Given the description of an element on the screen output the (x, y) to click on. 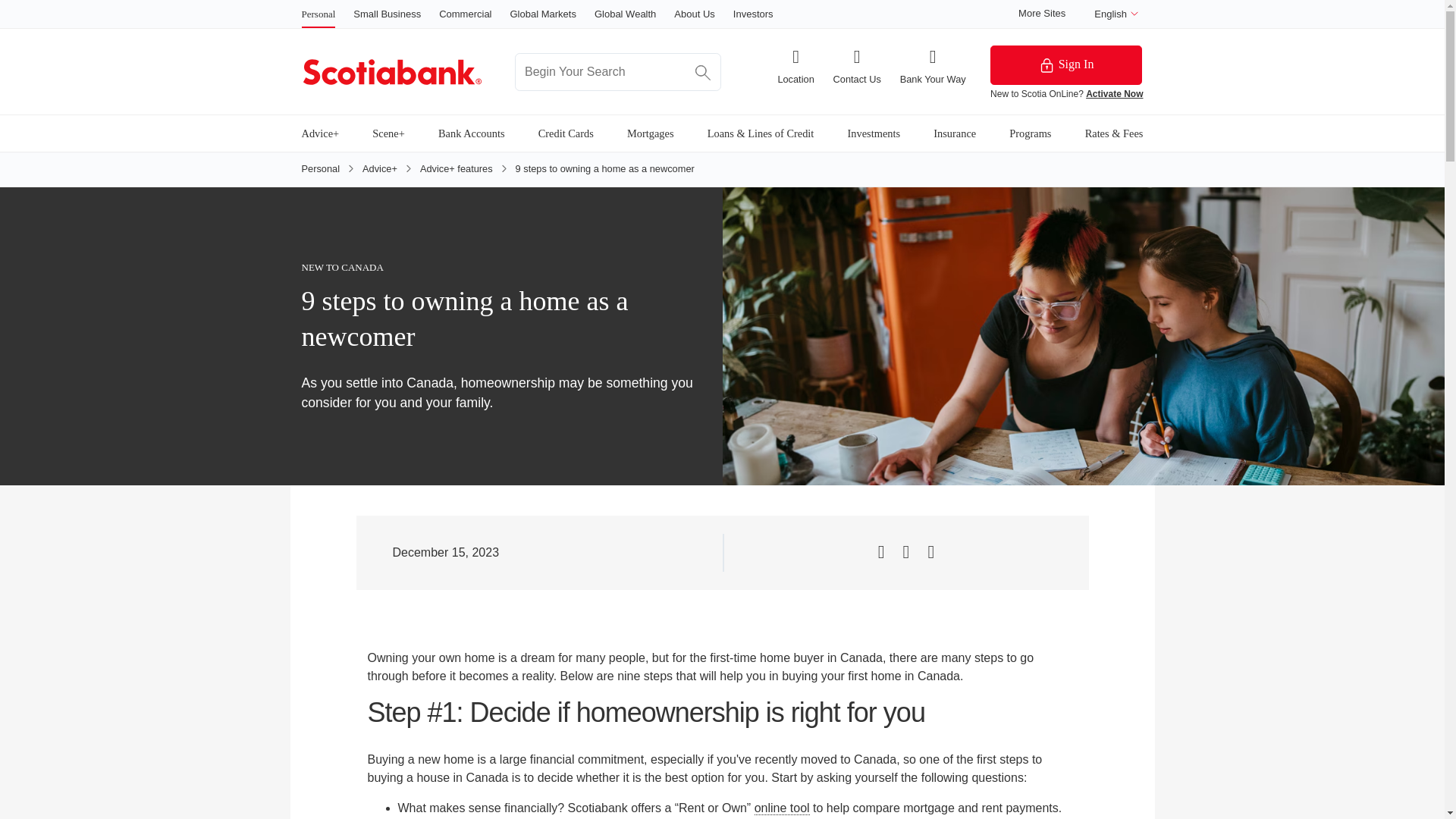
About Us (694, 13)
Small Business (386, 13)
Investors (753, 13)
Activate Now (1114, 93)
English (1115, 13)
Location (795, 66)
Personal (318, 13)
Contact Us (856, 66)
Sign In (1065, 65)
Bank Your Way (932, 66)
